Given the description of an element on the screen output the (x, y) to click on. 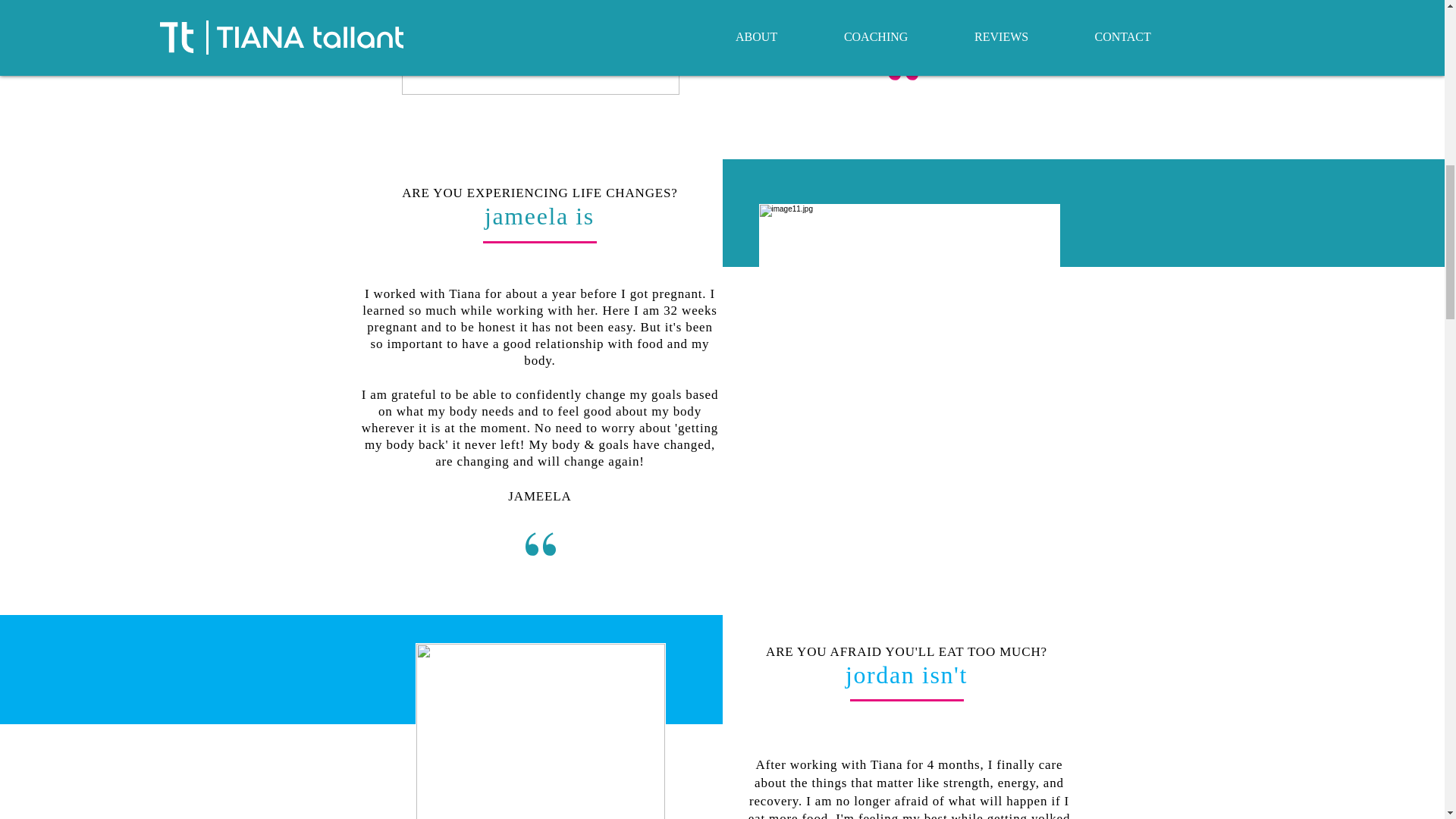
image3.jpg (539, 730)
image2.jpg (539, 47)
image2.jpg (908, 362)
